Given the description of an element on the screen output the (x, y) to click on. 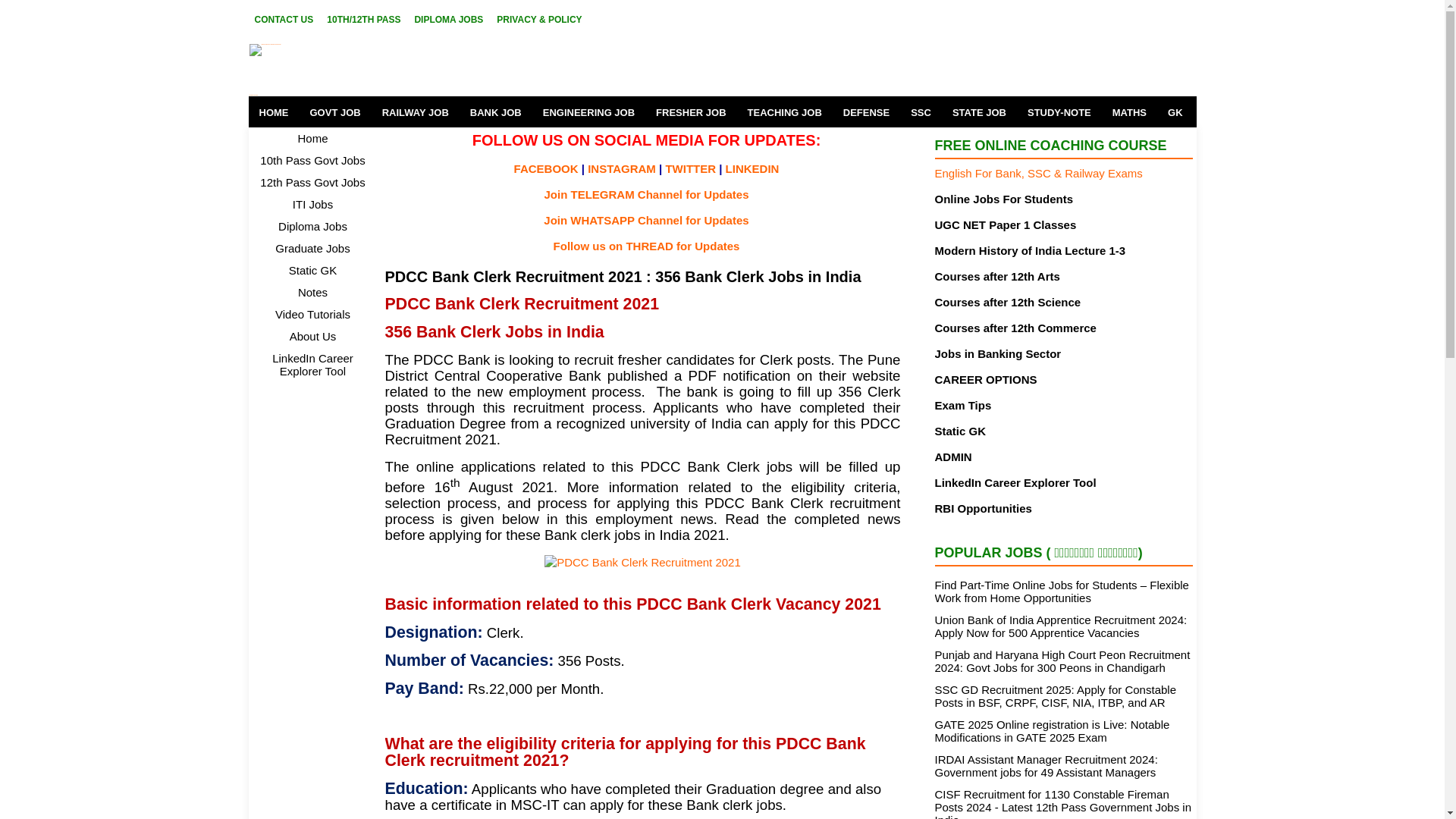
STUDY-NOTE (1059, 111)
PDCC Bank Clerk Recruitment 2021 (642, 562)
RAILWAY JOB (415, 111)
GOVT JOB (334, 111)
CONTACT US (284, 19)
SSC (920, 111)
HOME (273, 111)
DIPLOMA JOBS (448, 19)
STATE JOB (979, 111)
FRESHER JOB (690, 111)
